Given the description of an element on the screen output the (x, y) to click on. 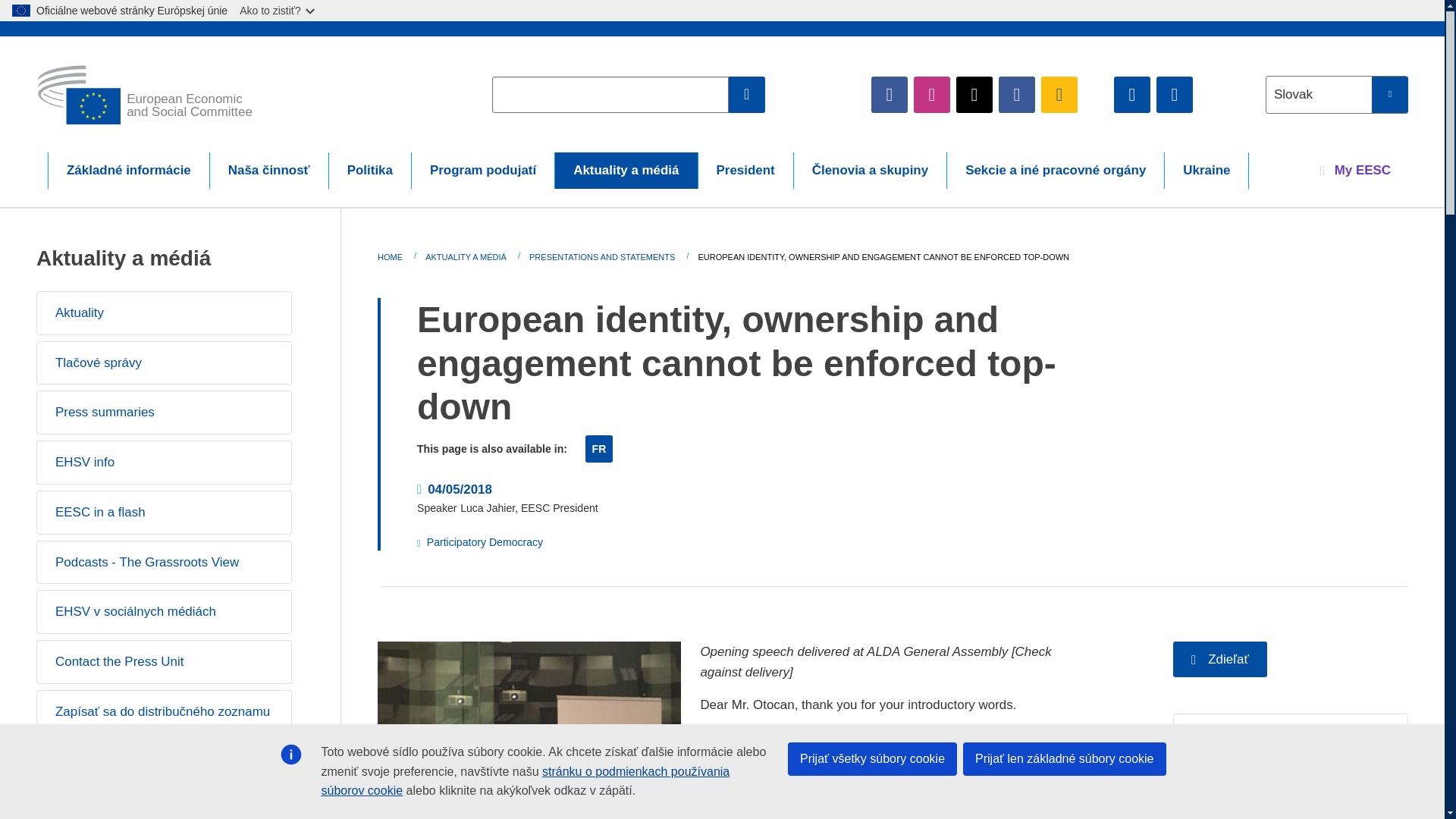
My EESC (1355, 170)
Search EESC Website (747, 94)
